Given the description of an element on the screen output the (x, y) to click on. 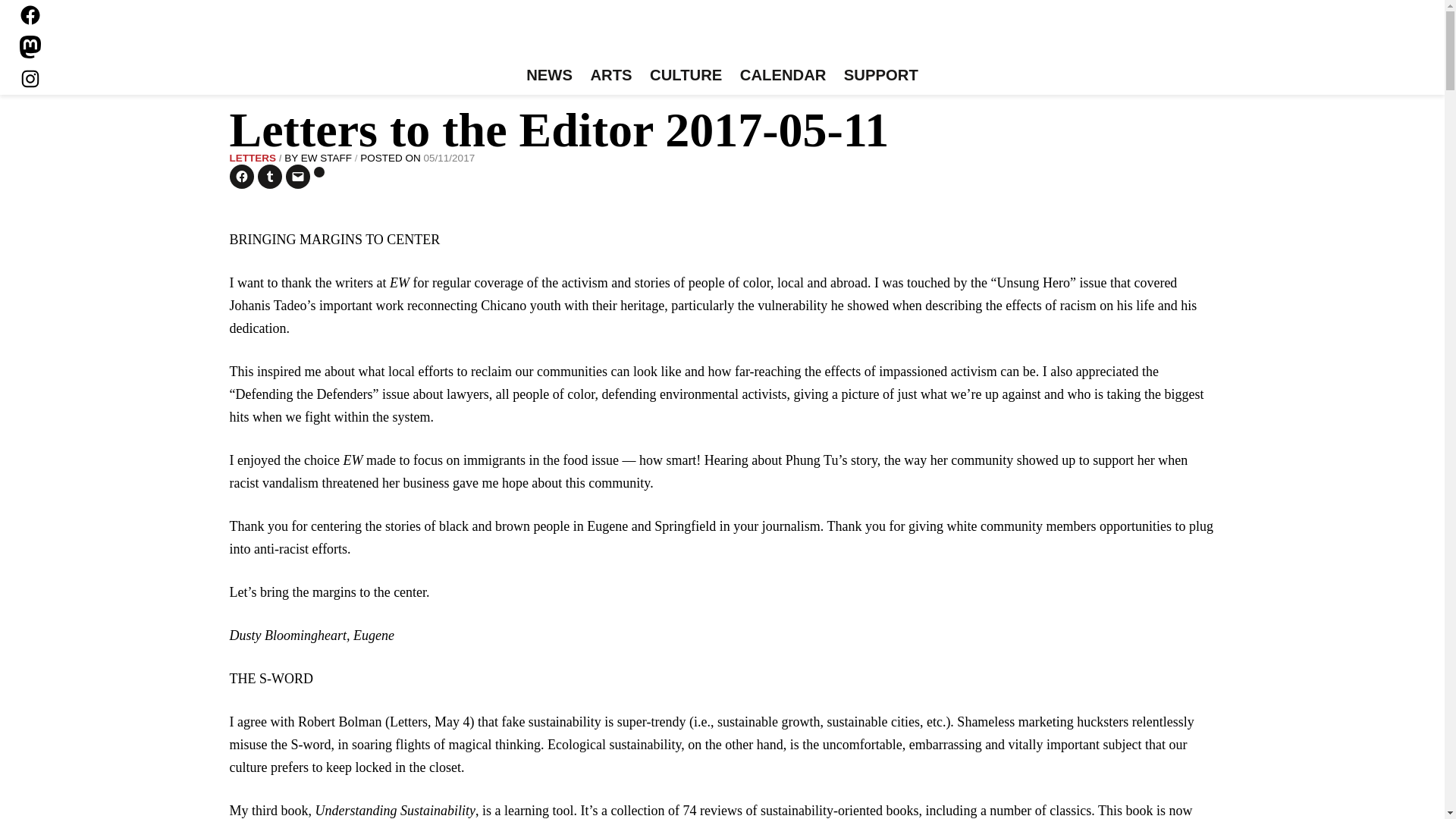
SUPPORT (880, 75)
ARTS (611, 75)
Instagram (30, 78)
Click to email a link to a friend (296, 176)
Facebook (30, 15)
CALENDAR (782, 75)
NEWS (548, 75)
Eugene Weekly (721, 37)
Click to share on Tumblr (269, 176)
Click to print (319, 172)
Mastodon (30, 47)
CULTURE (685, 75)
Click to share on Facebook (240, 176)
